Given the description of an element on the screen output the (x, y) to click on. 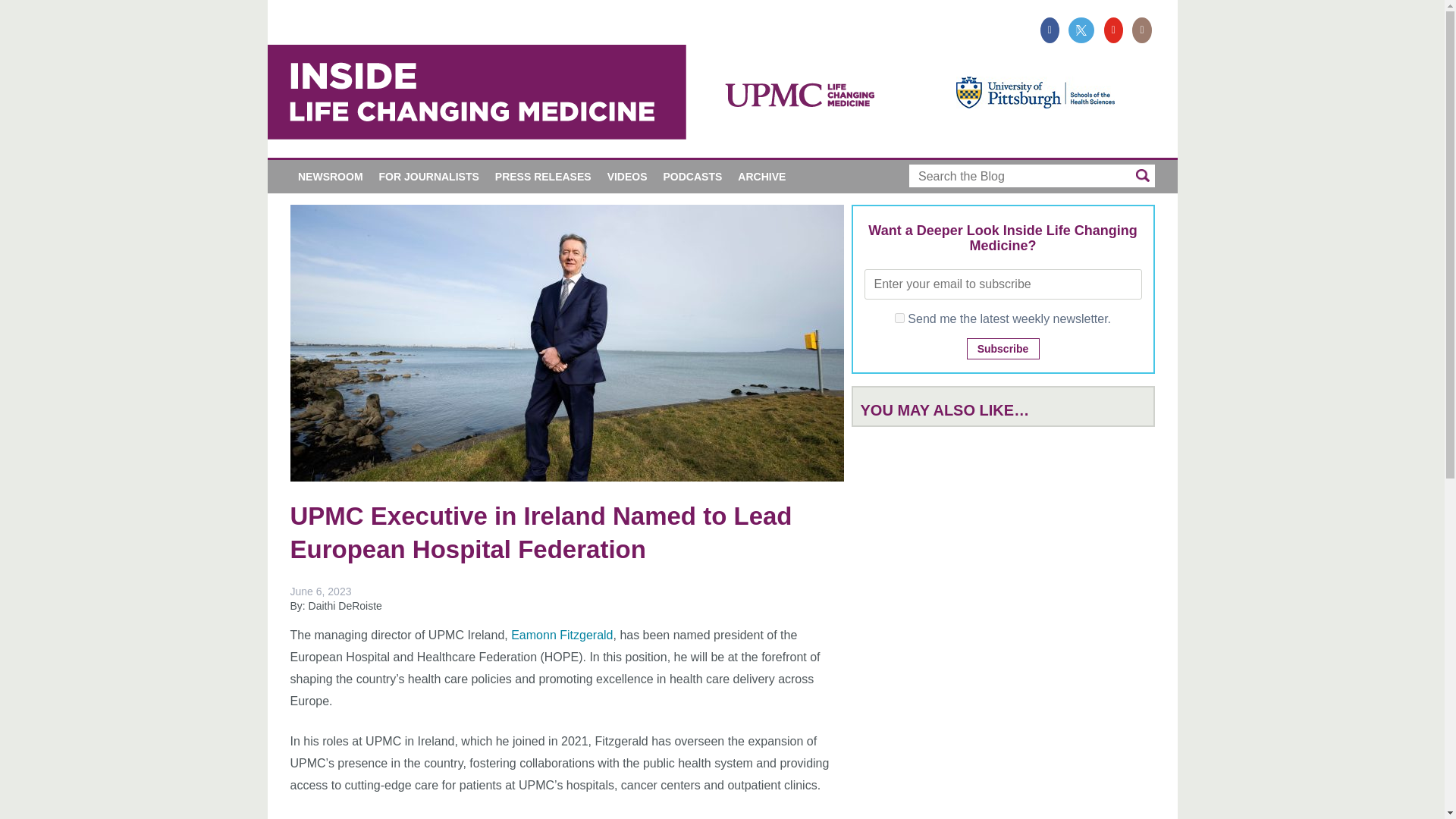
PODCASTS (692, 176)
FOR JOURNALISTS (428, 176)
Eamonn Fitzgerald (561, 634)
VIDEOS (626, 176)
ARCHIVE (761, 176)
Subscribe (1002, 348)
NEWSROOM (330, 176)
PRESS RELEASES (542, 176)
on (899, 317)
Subscribe (1002, 348)
